Given the description of an element on the screen output the (x, y) to click on. 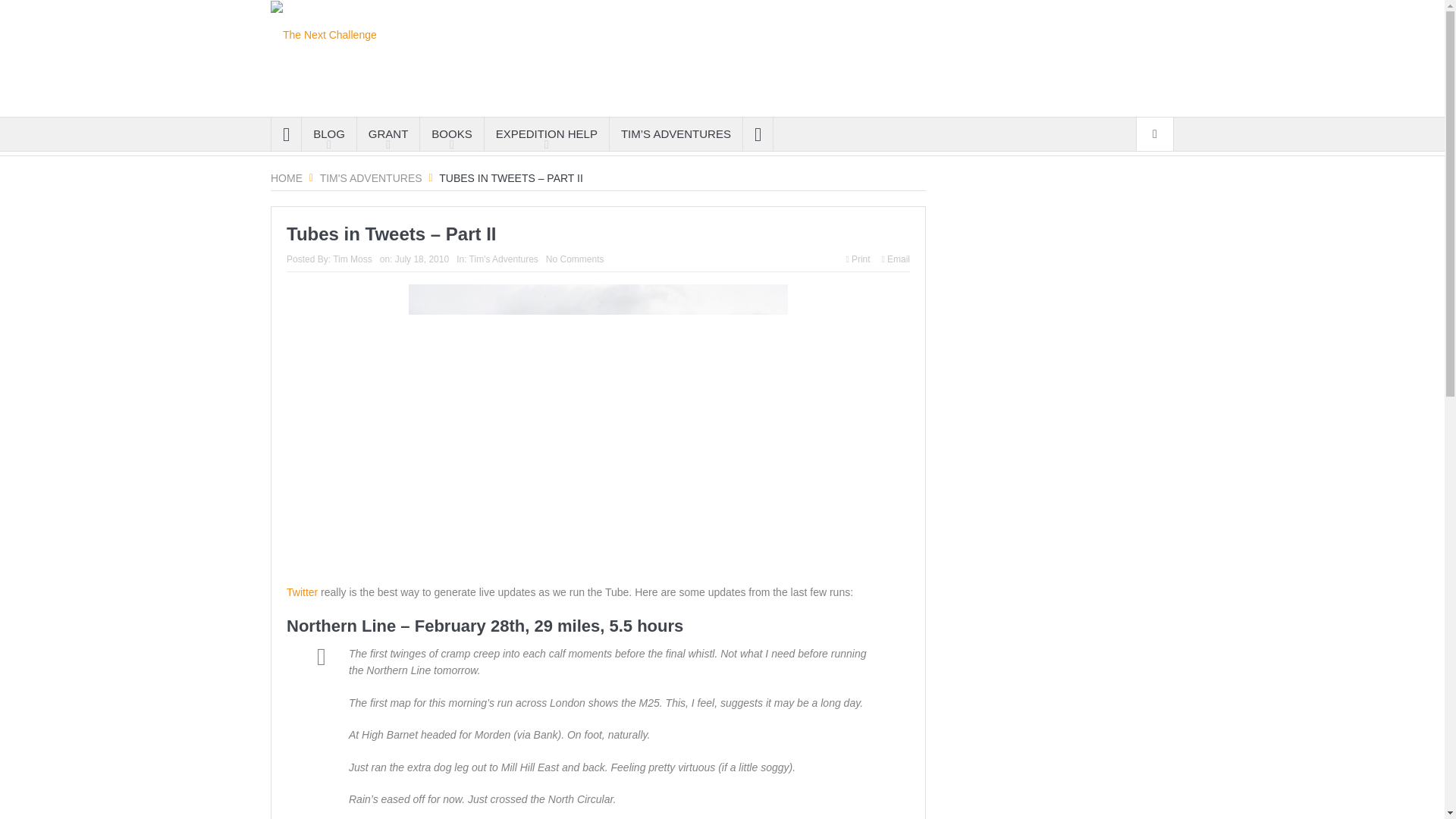
EXPEDITION HELP (546, 133)
GRANT (388, 133)
BLOG (328, 133)
Tim's Adventures (371, 177)
Follow me on Twitter (301, 592)
View all posts in Tim's Adventures (503, 258)
BOOKS (451, 133)
Russian signpost - David Tett (598, 426)
